Given the description of an element on the screen output the (x, y) to click on. 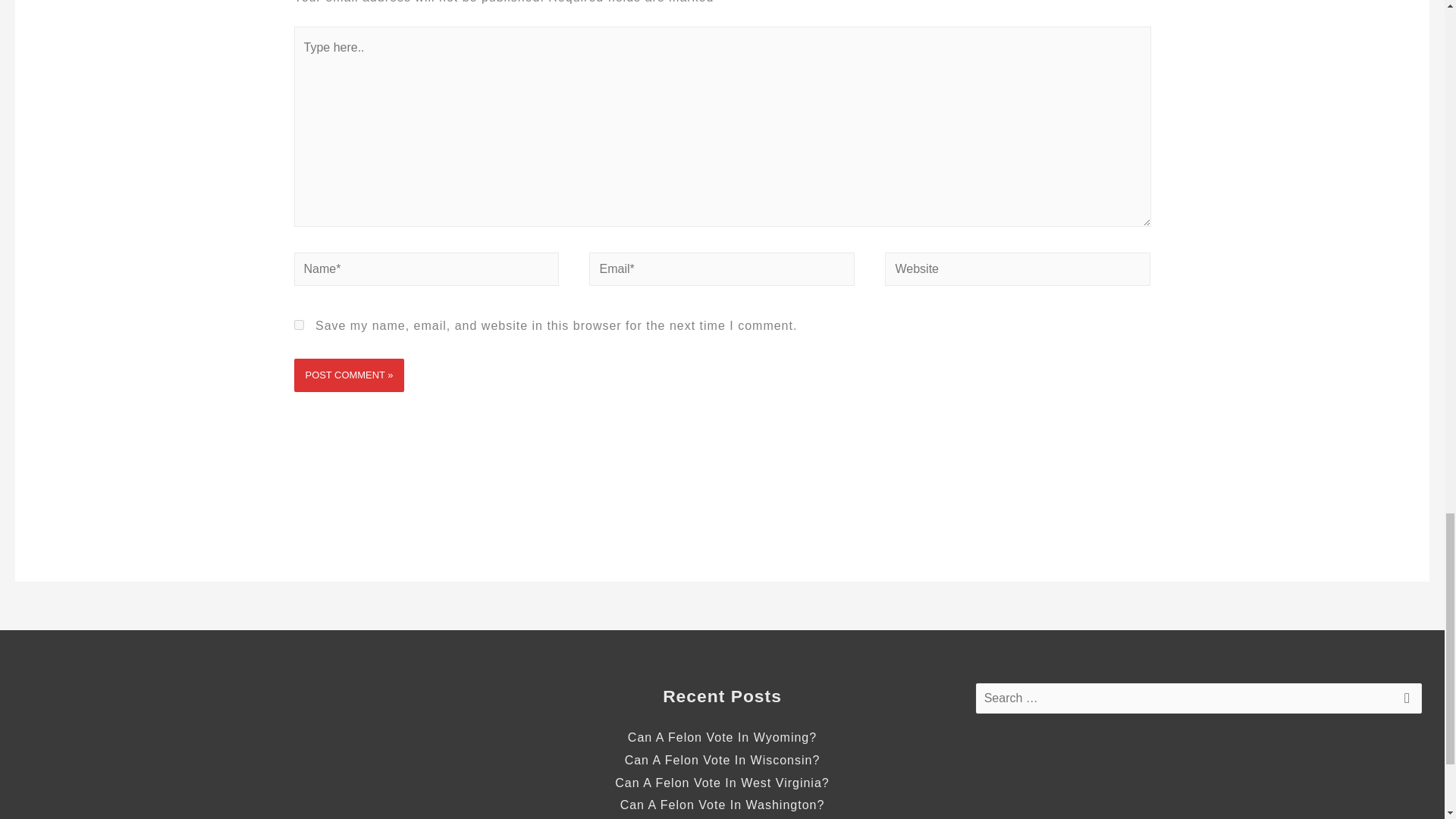
yes (299, 325)
Can A Felon Vote In Wyoming? (721, 737)
Can A Felon Vote In Washington? (722, 804)
Search (1404, 702)
Search (1404, 702)
Search (1404, 702)
Can A Felon Vote In Wisconsin? (722, 759)
Can A Felon Vote In West Virginia? (721, 782)
